Given the description of an element on the screen output the (x, y) to click on. 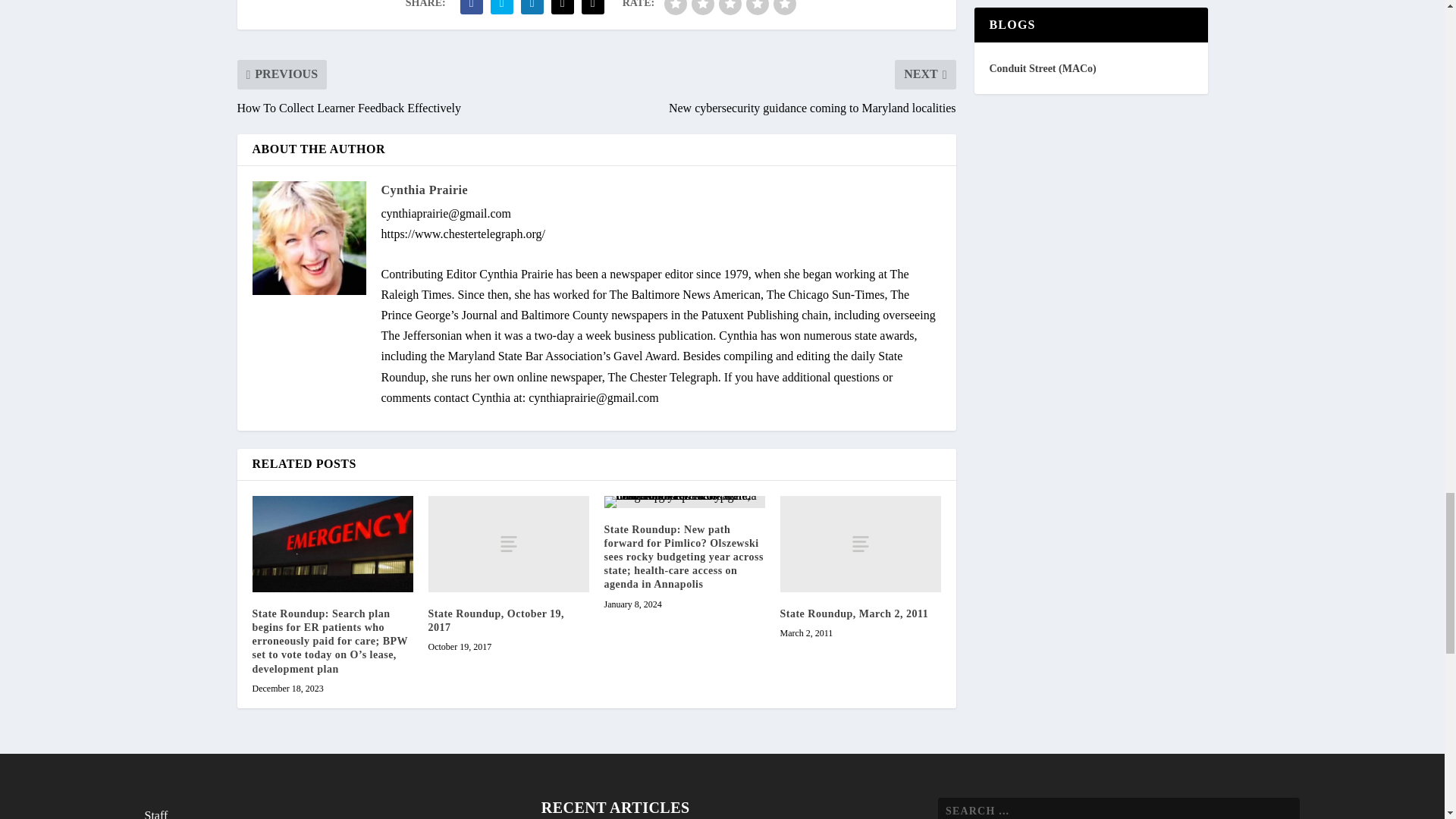
State Roundup, October 19, 2017 (508, 544)
poor (702, 7)
View all posts by Cynthia Prairie (423, 189)
good (756, 7)
bad (675, 7)
gorgeous (784, 7)
regular (730, 7)
